Given the description of an element on the screen output the (x, y) to click on. 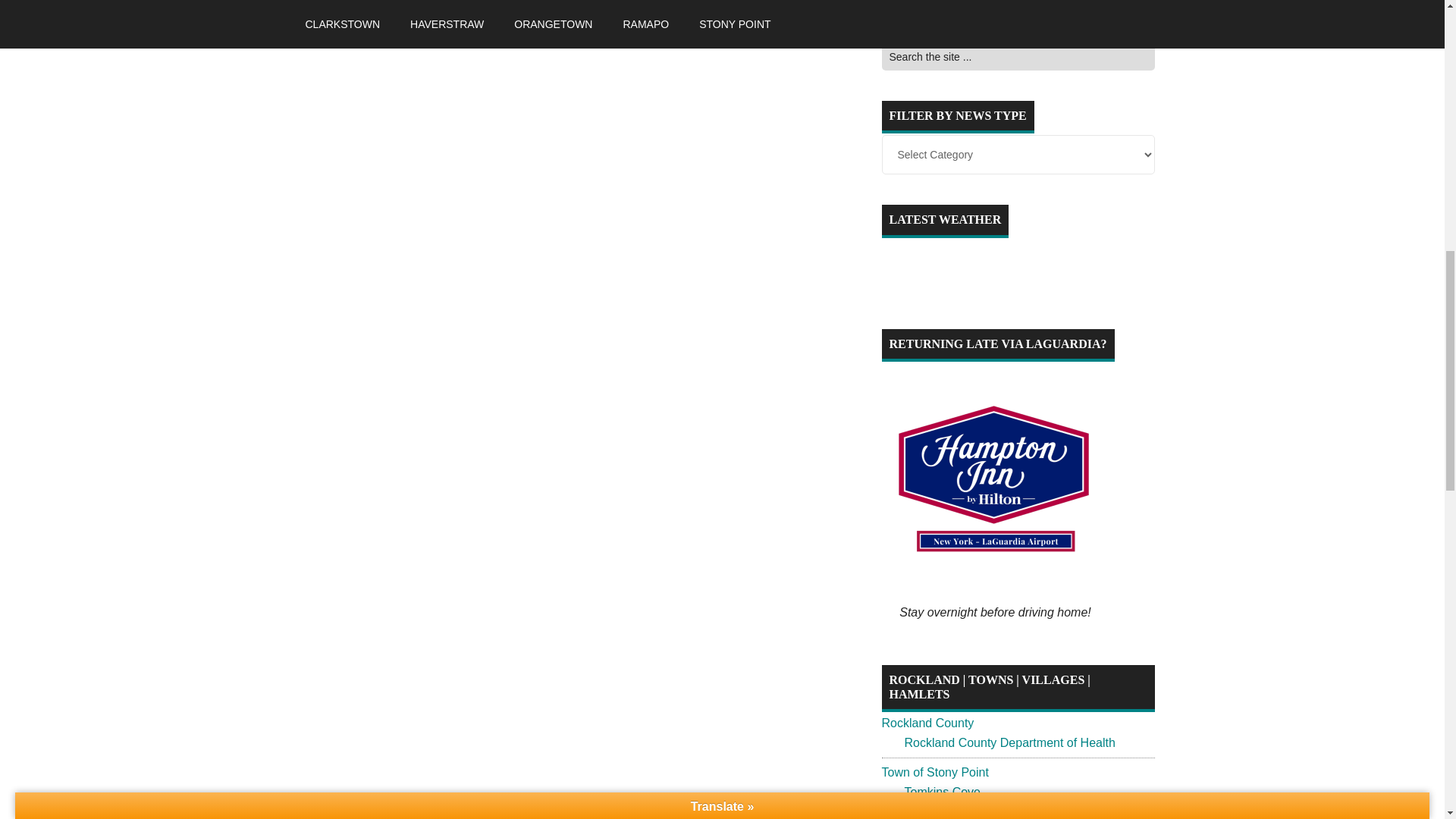
Rockland County Department of Health (1009, 742)
Rockland County (927, 722)
Town of Stony Point (934, 771)
Tomkins Cove (941, 791)
Returning late via Laguardia Airport? Stay overnight! (994, 476)
Town of Haverstraw (934, 816)
